Given the description of an element on the screen output the (x, y) to click on. 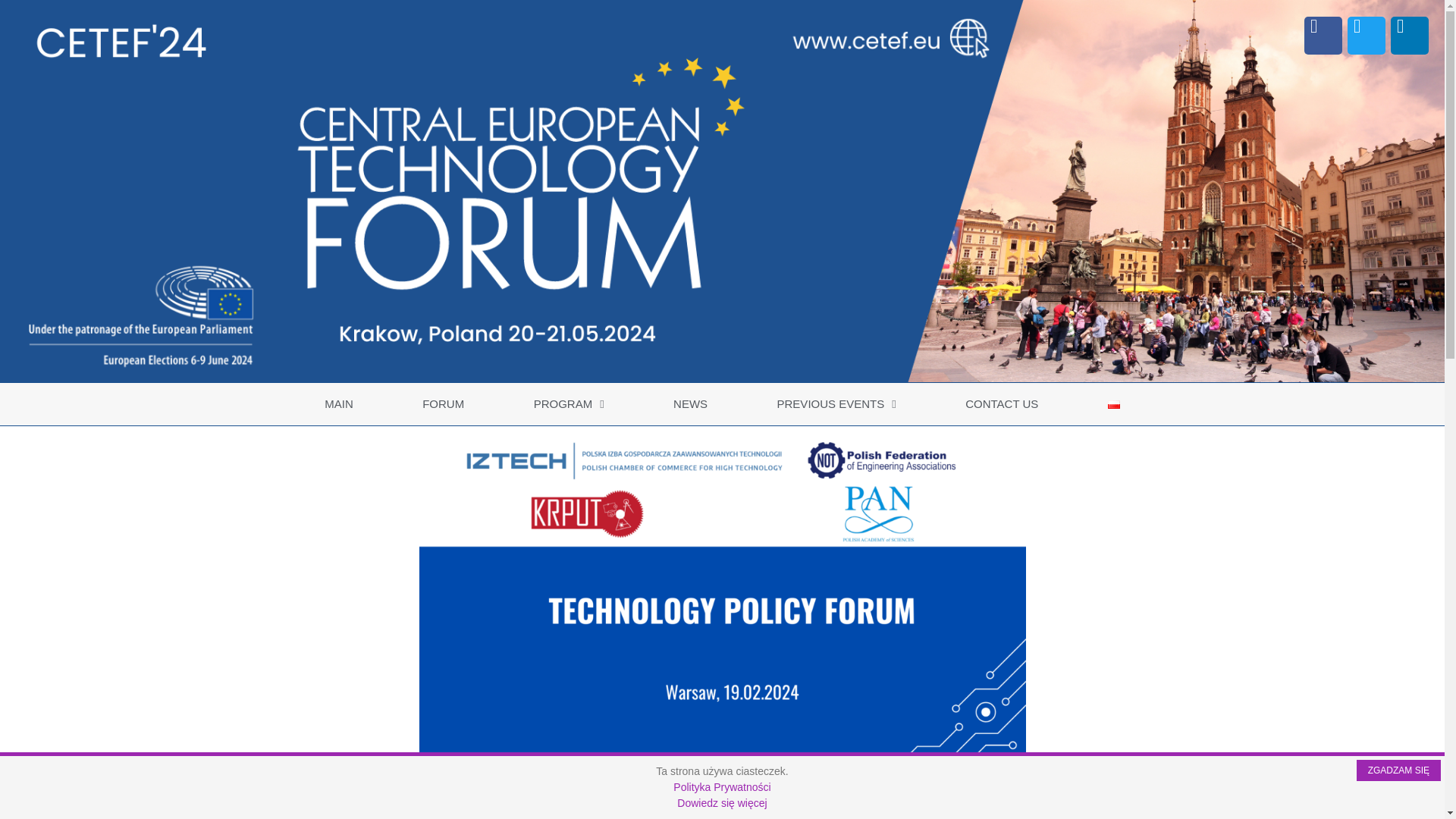
MAIN (338, 404)
PREVIOUS EVENTS (836, 404)
FORUM (442, 404)
PROGRAM (569, 404)
NEWS (690, 404)
CONTACT US (1001, 404)
